Given the description of an element on the screen output the (x, y) to click on. 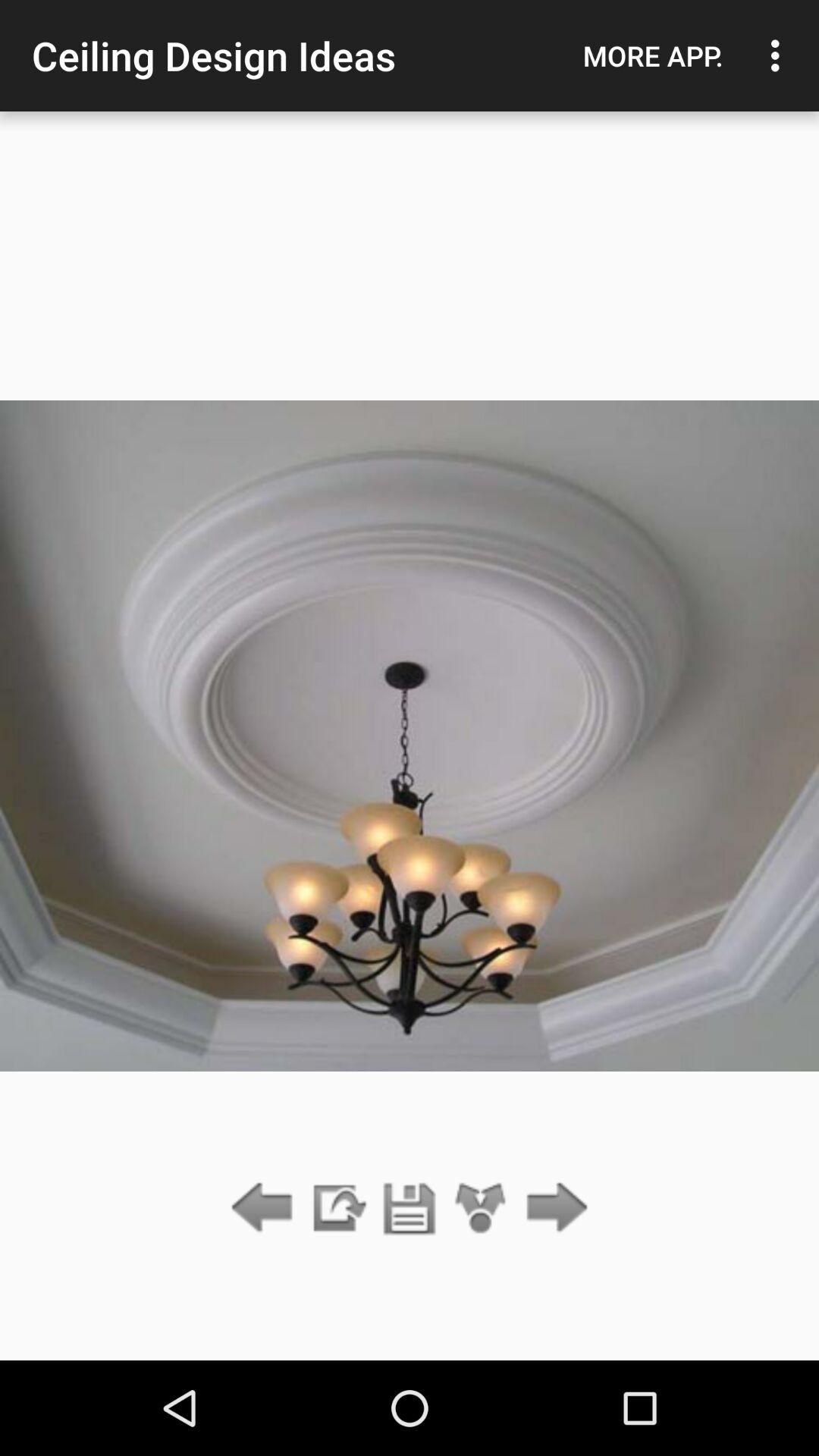
go forward (552, 1209)
